Given the description of an element on the screen output the (x, y) to click on. 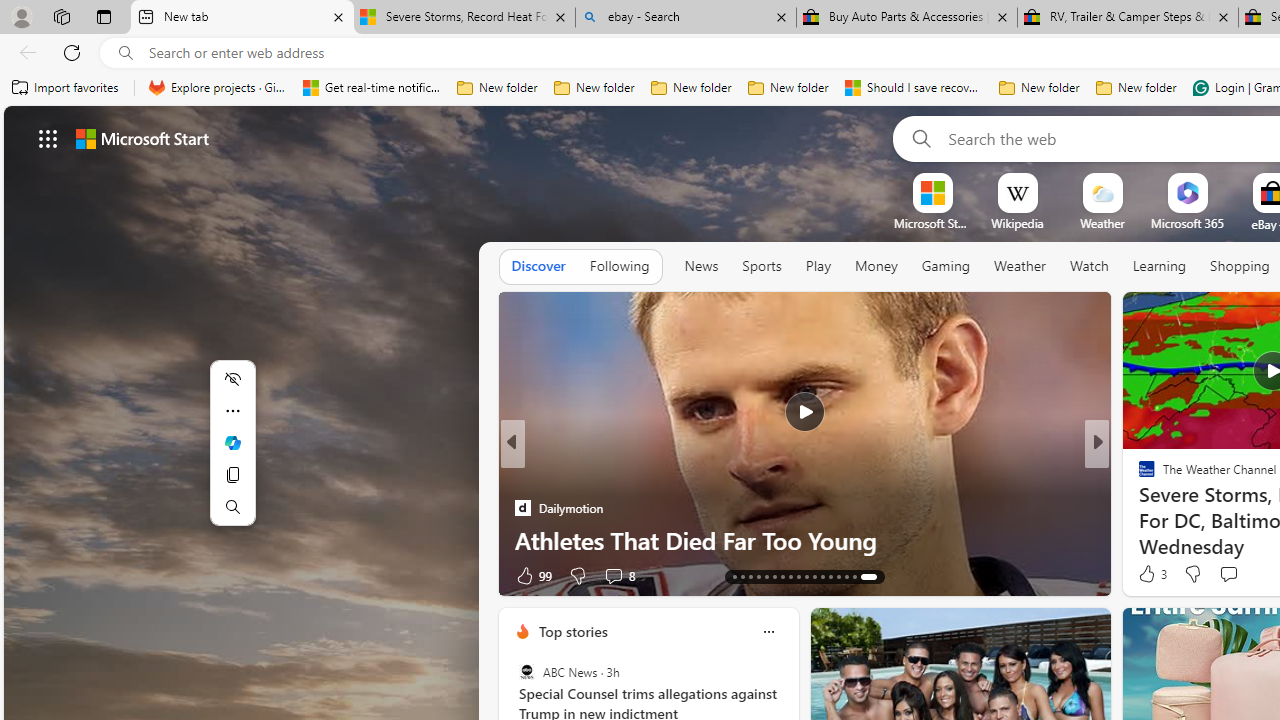
View comments 1 Comment (1241, 574)
Money (876, 267)
Sports (761, 267)
View comments 1 Comment (1234, 575)
13 Like (1149, 574)
AutomationID: tab-18 (786, 576)
View comments 5 Comment (612, 574)
Dailymotion (1138, 507)
NBC News (1138, 475)
AutomationID: tab-21 (810, 576)
MUO (1138, 507)
